Given the description of an element on the screen output the (x, y) to click on. 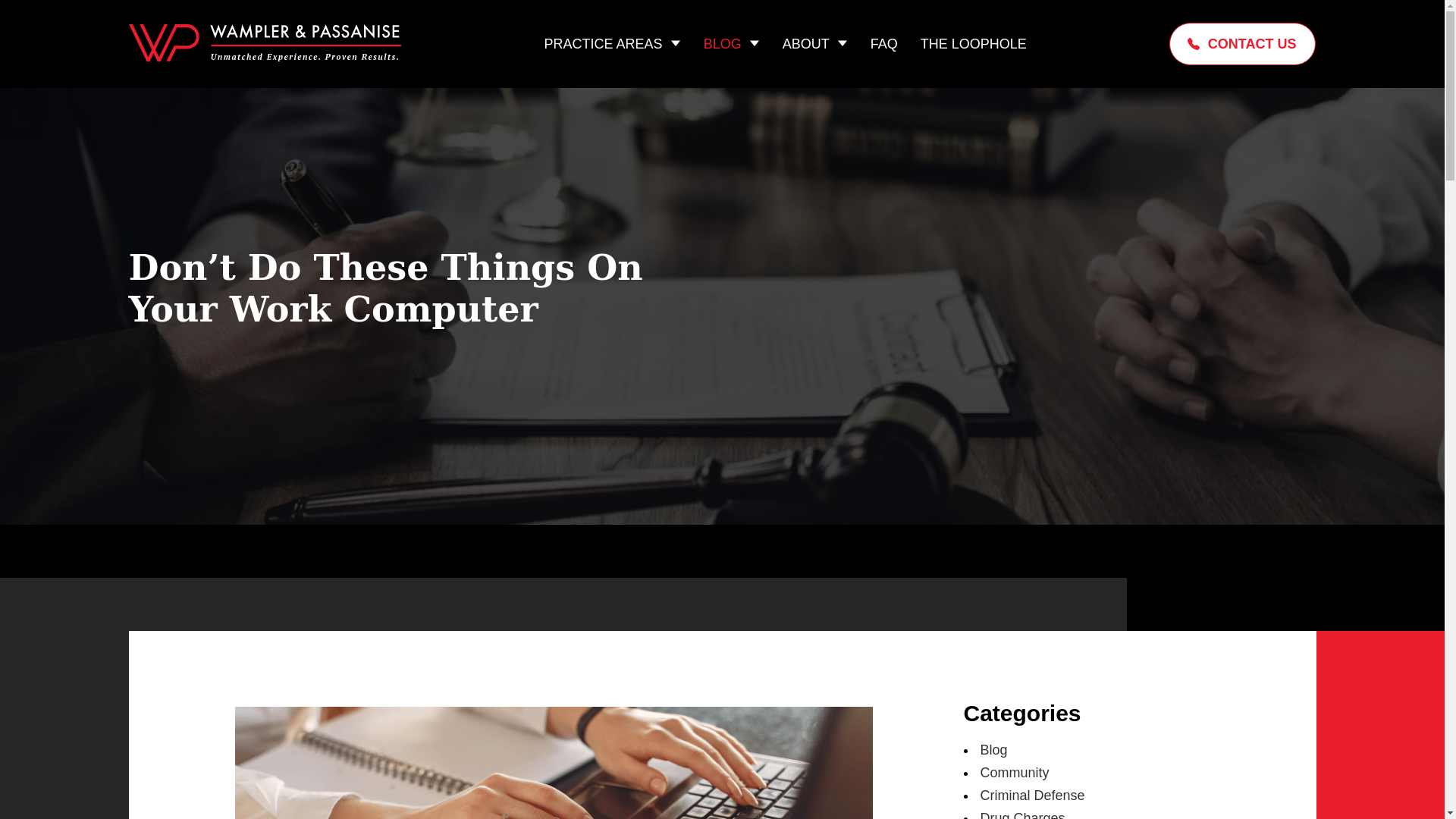
FAQ (884, 43)
Criminal Defense (1031, 795)
CONTACT US (1242, 43)
ABOUT (806, 43)
THE LOOPHOLE (973, 43)
Community (1013, 772)
PRACTICE AREAS (603, 43)
Drug Charges (1021, 814)
BLOG (722, 43)
Blog (993, 749)
